Given the description of an element on the screen output the (x, y) to click on. 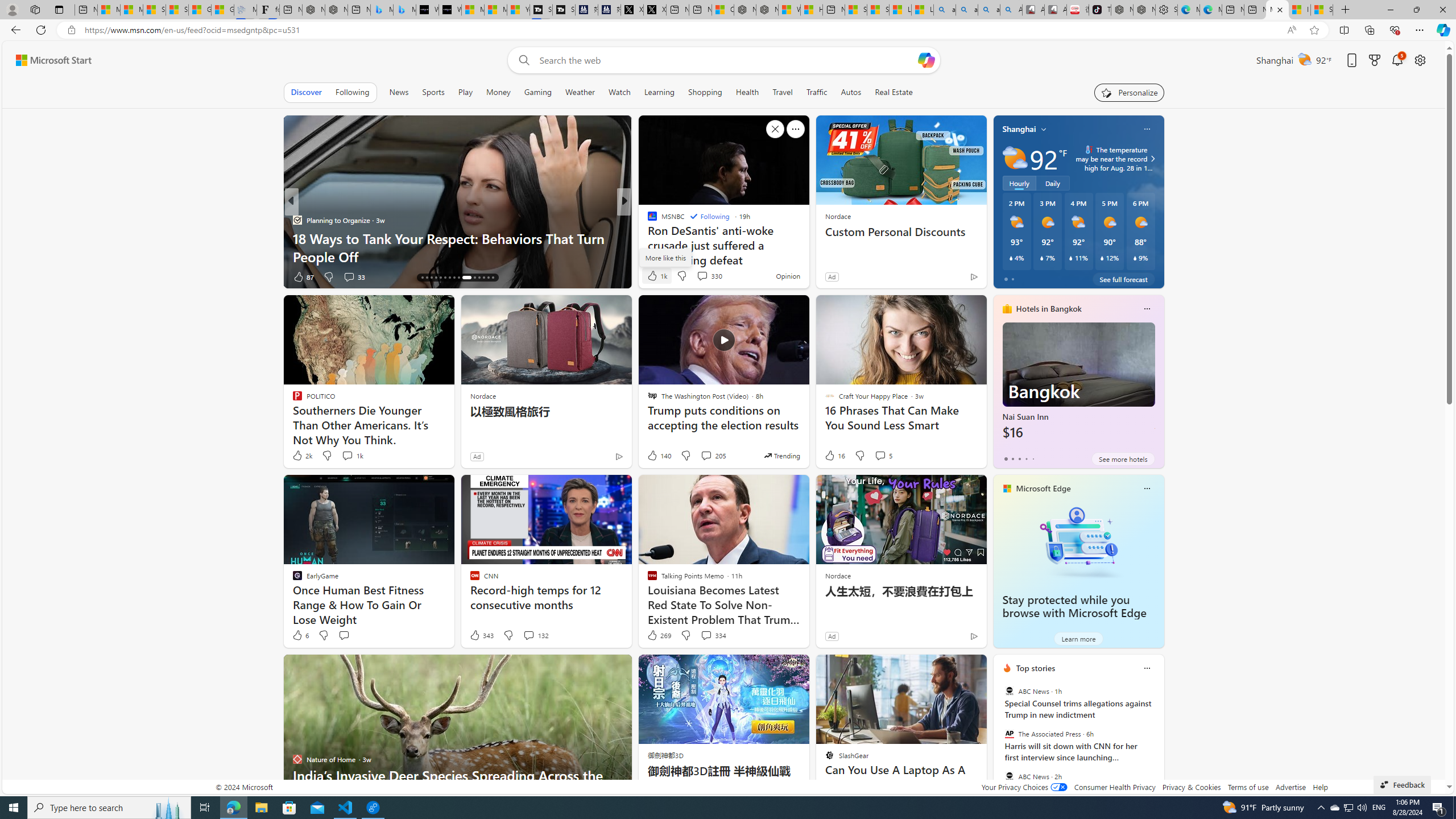
View comments 96 Comment (703, 276)
next (1158, 741)
91 Like (652, 276)
Web search (520, 60)
View comments 55 Comment (704, 276)
6 Like (299, 634)
View comments 205 Comment (705, 455)
View comments 33 Comment (353, 276)
Nordace Siena Pro 15 Backpack (1144, 9)
View comments 266 Comment (709, 276)
